Given the description of an element on the screen output the (x, y) to click on. 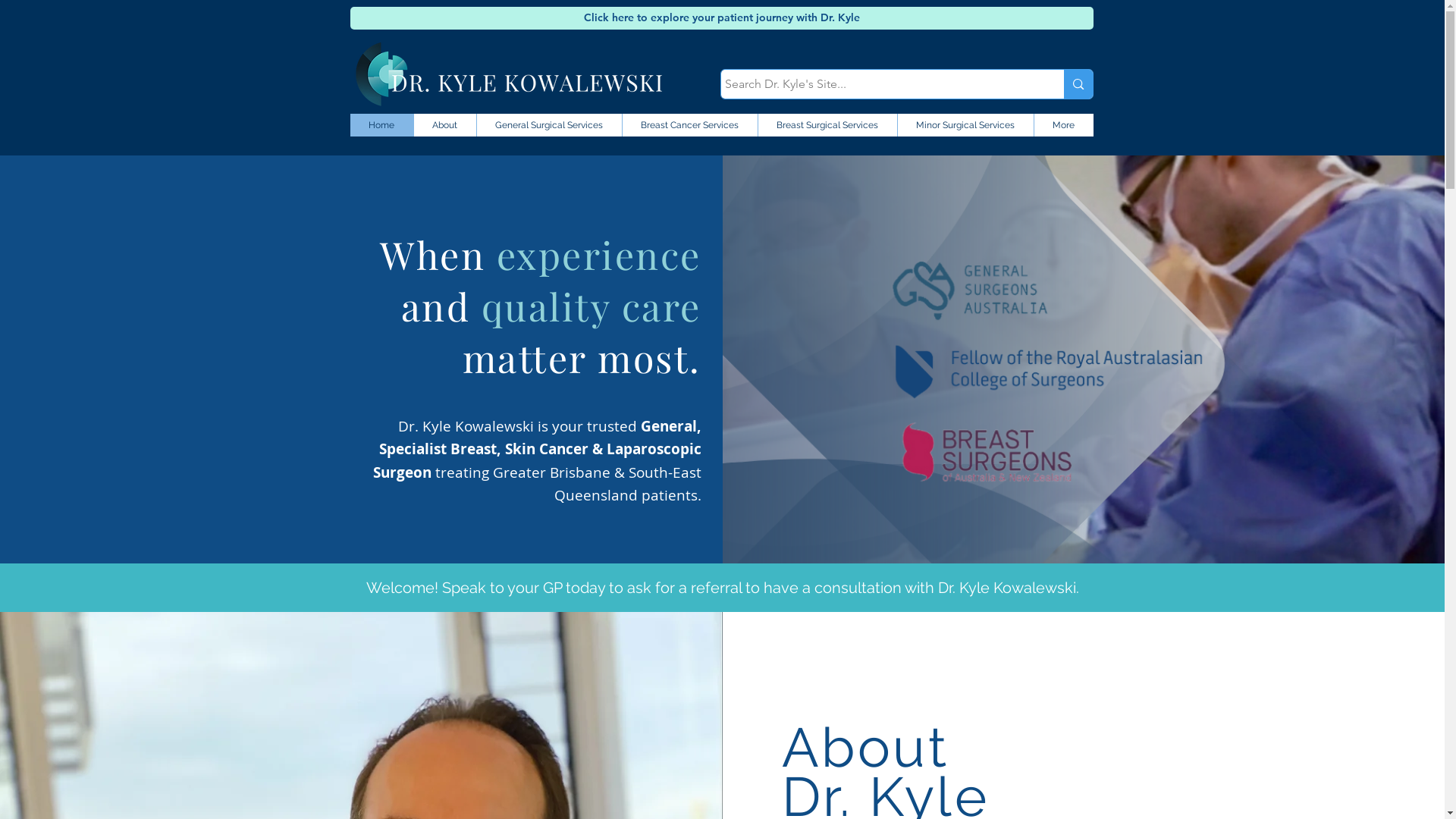
Home Element type: text (381, 124)
Click here to explore your patient journey with Dr. Kyle Element type: text (721, 17)
Minor Surgical Services Element type: text (964, 124)
Breast Cancer Services Element type: text (689, 124)
About Element type: text (443, 124)
General Surgical Services Element type: text (548, 124)
Breast Surgical Services Element type: text (826, 124)
